Given the description of an element on the screen output the (x, y) to click on. 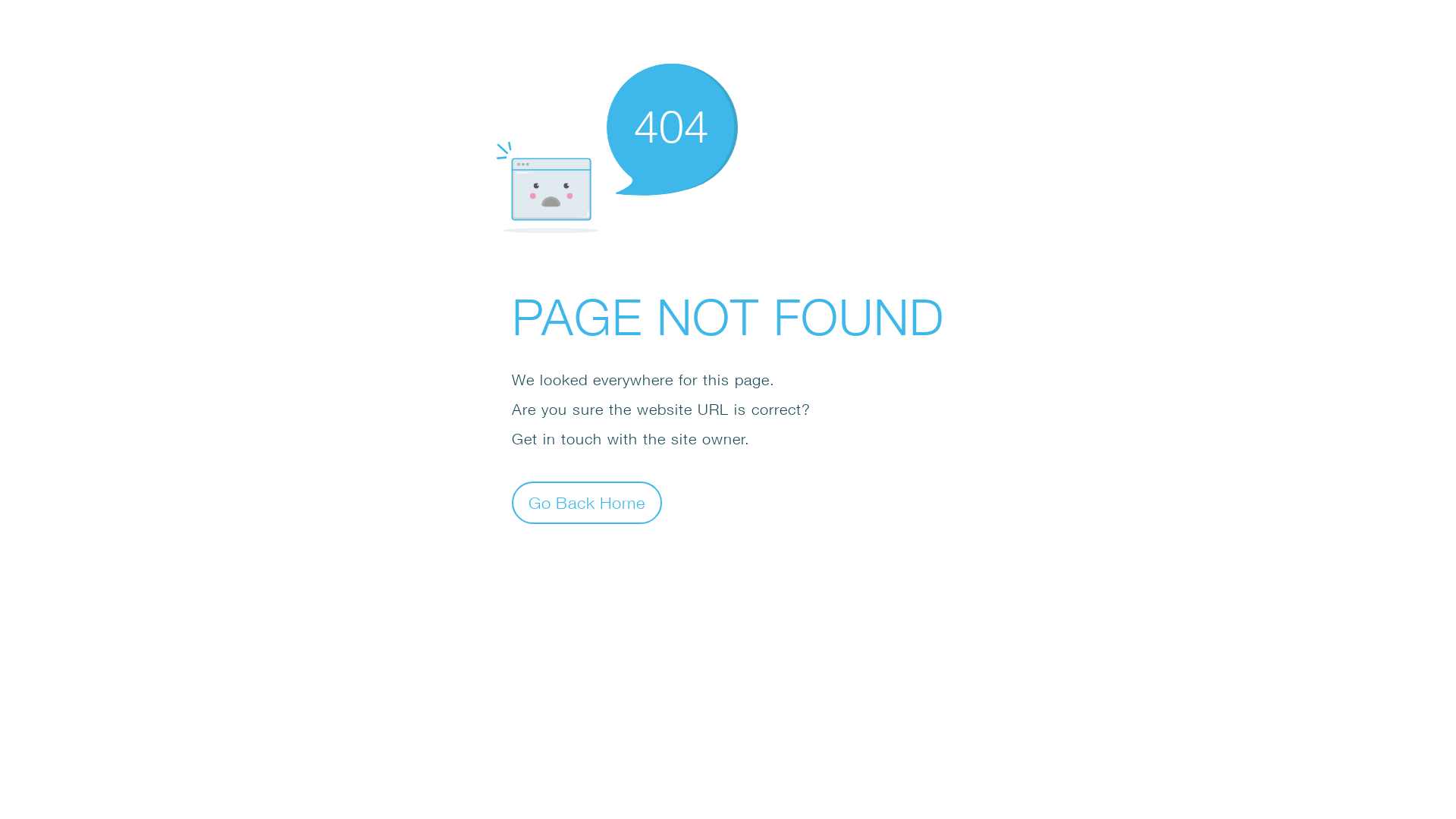
Go Back Home Element type: text (586, 502)
